Given the description of an element on the screen output the (x, y) to click on. 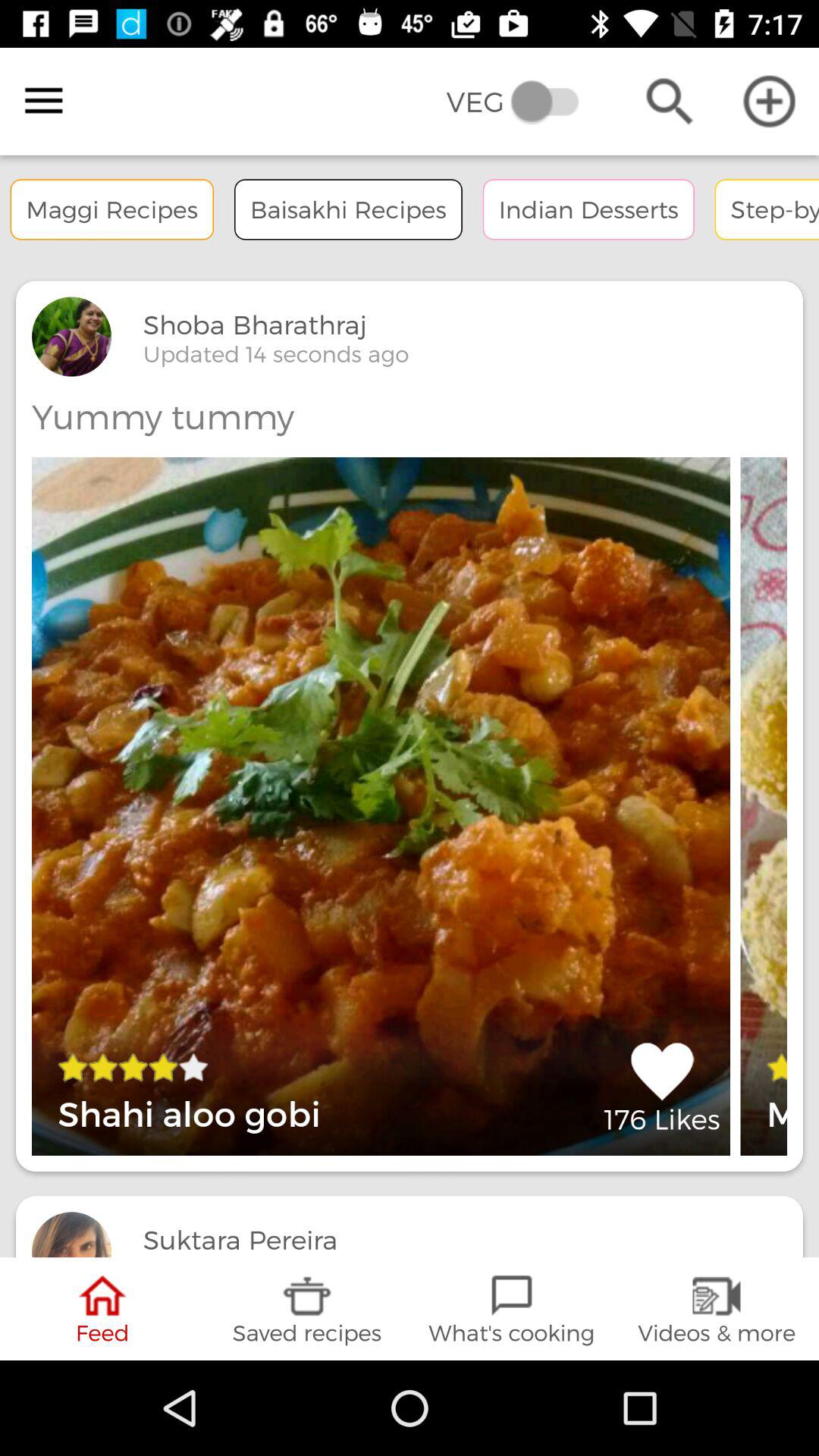
swipe until videos & more item (716, 1308)
